Given the description of an element on the screen output the (x, y) to click on. 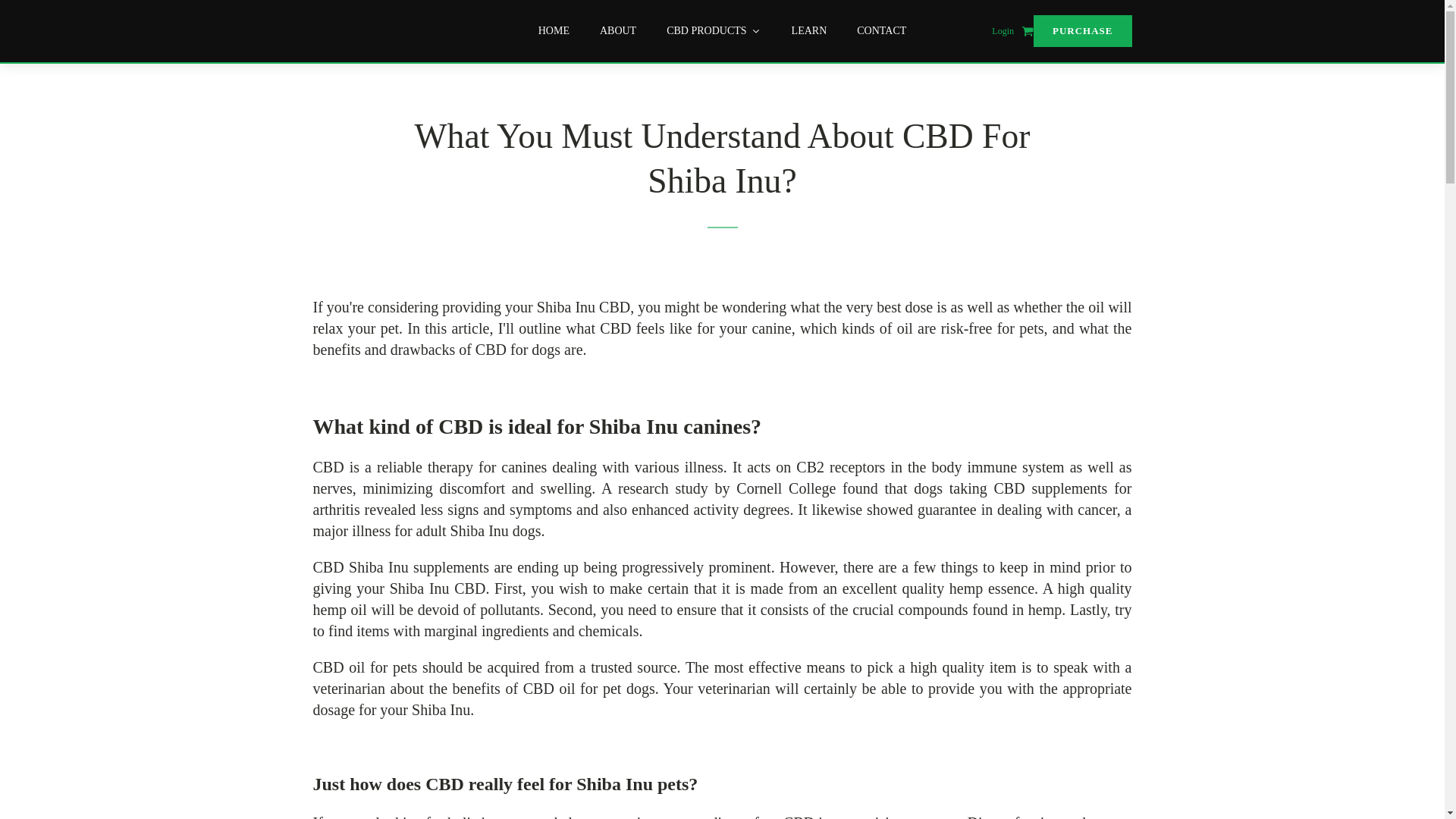
ABOUT (617, 30)
CBD PRODUCTS (713, 30)
HOME (553, 30)
LEARN (809, 30)
PURCHASE (1082, 30)
Login (1002, 31)
CONTACT (881, 30)
